Given the description of an element on the screen output the (x, y) to click on. 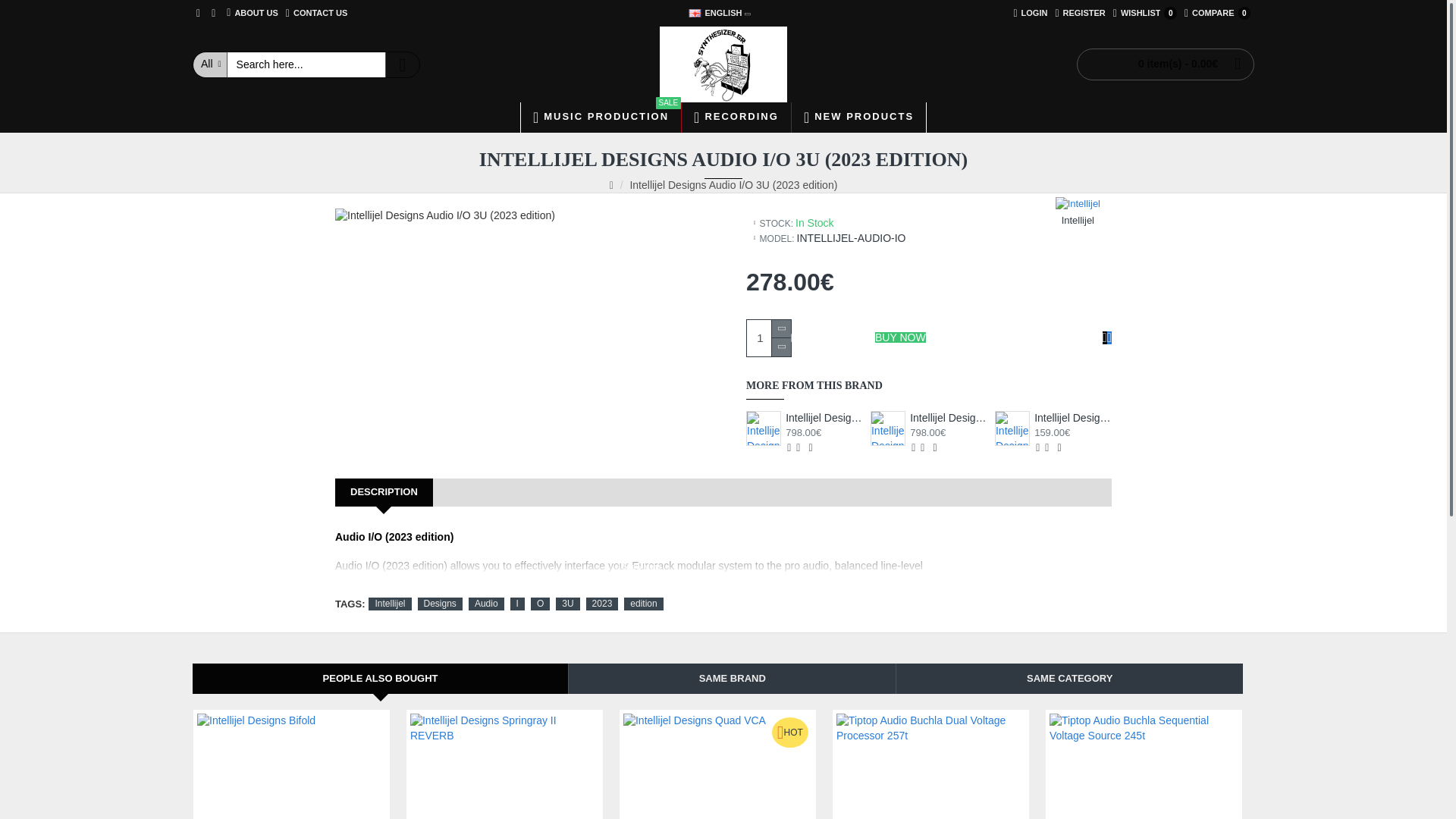
CONTACT US (316, 13)
ENGLISH (715, 13)
Add to Wish List (1104, 337)
LOGIN (1030, 13)
ABOUT US (252, 13)
REGISTER (1079, 13)
Intellijel Designs 7U 104HP Silver Modular Case (601, 117)
Add to Cart (762, 428)
1 (789, 447)
Compare this Product (1216, 13)
English (768, 338)
S.F.R. (1109, 337)
